Given the description of an element on the screen output the (x, y) to click on. 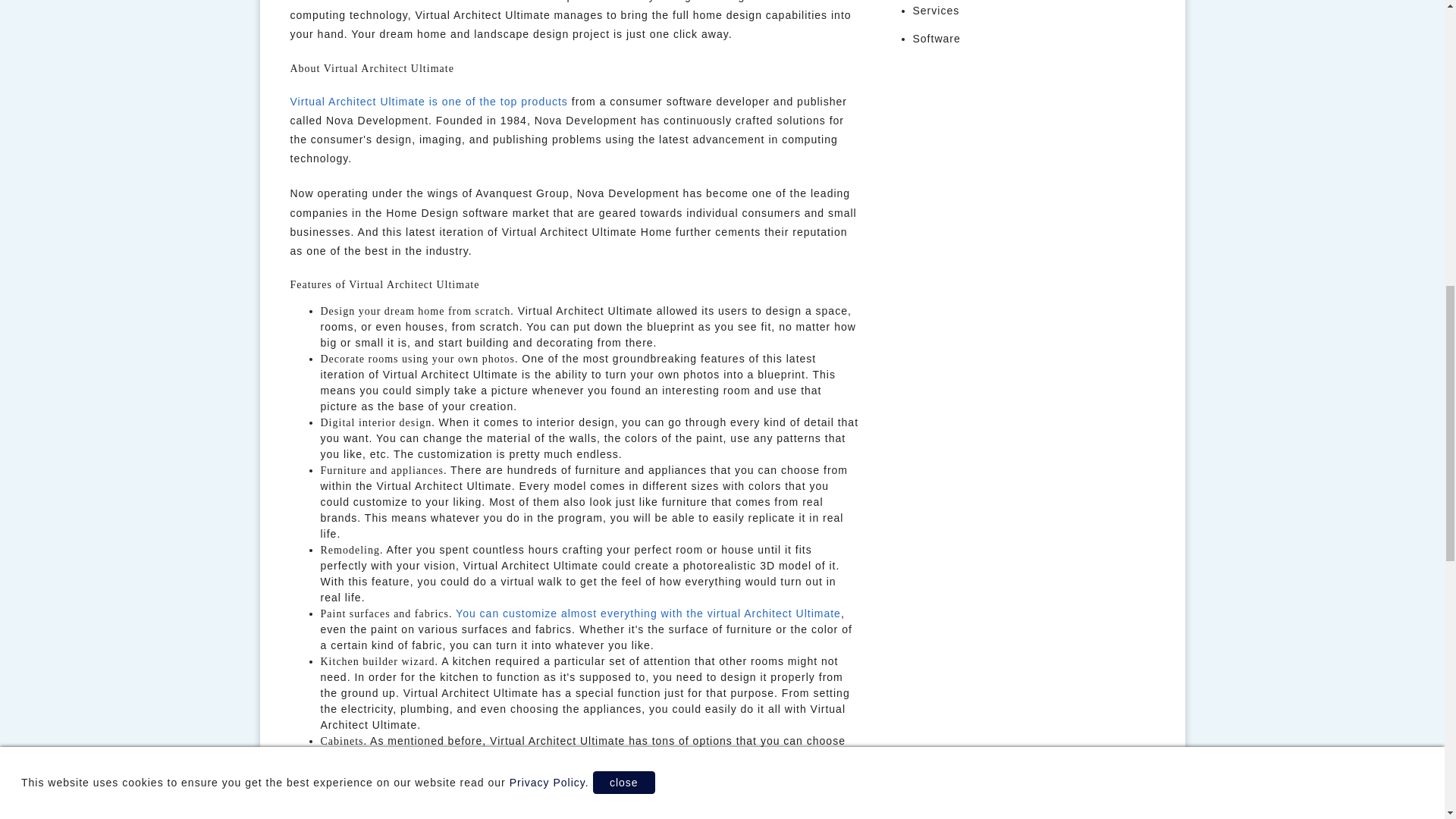
Virtual Architect Ultimate is one of the top products (428, 101)
